Given the description of an element on the screen output the (x, y) to click on. 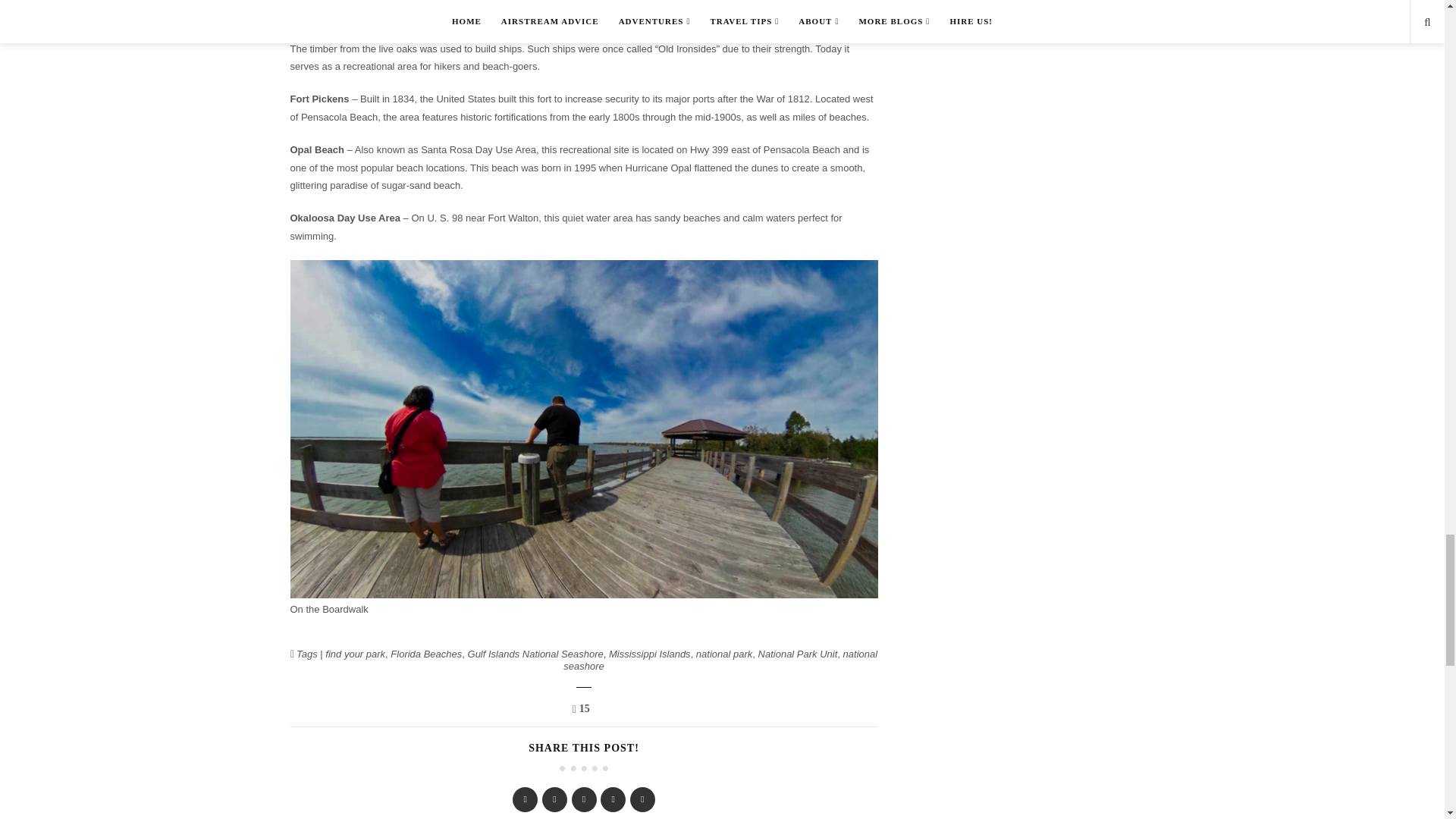
Like (583, 708)
